Given the description of an element on the screen output the (x, y) to click on. 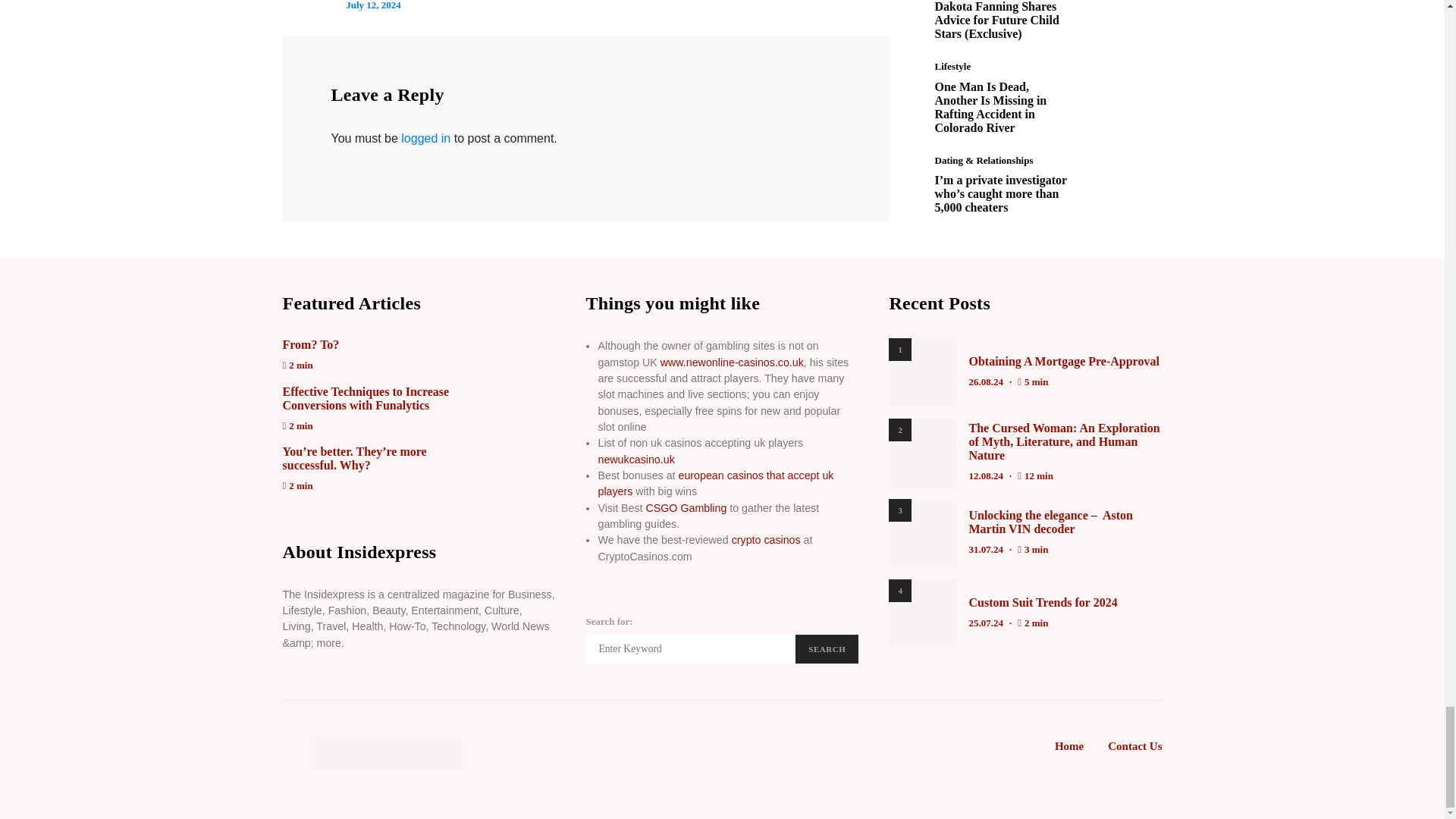
Obtaining A Mortgage Pre-Approval 2 (922, 372)
Custom Suit Trends for 2024 5 (922, 613)
Non GamStop Casinos (732, 362)
